Given the description of an element on the screen output the (x, y) to click on. 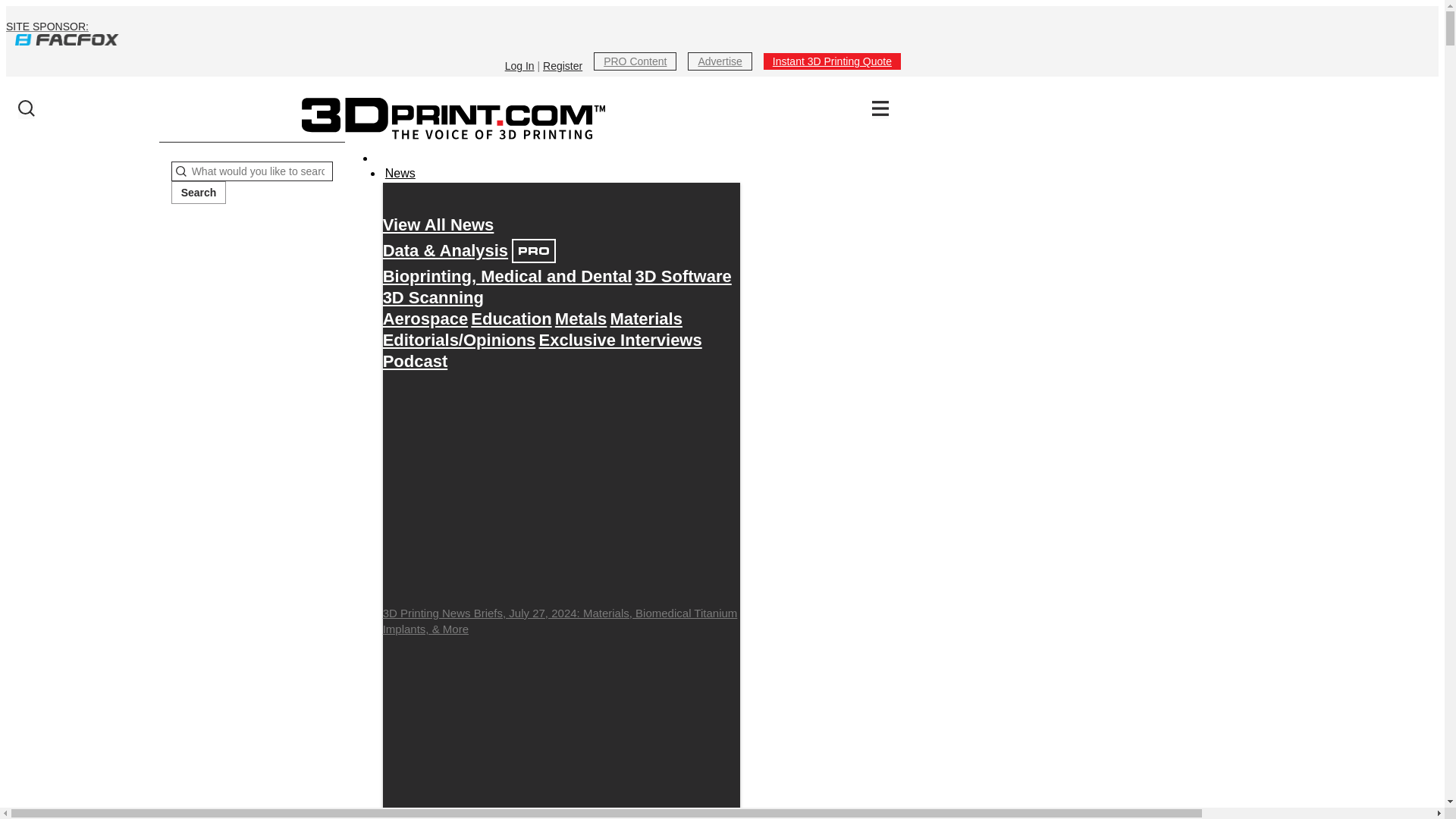
Exclusive Interviews (619, 339)
Bioprinting, Medical and Dental (506, 276)
SITE SPONSOR: (453, 32)
News (399, 173)
Instant 3D Printing Quote (831, 60)
3D Software (683, 276)
Advertise (719, 60)
Metals (580, 318)
Register (562, 65)
Aerospace (425, 318)
Podcast (415, 360)
Education (510, 318)
3D Scanning (432, 297)
Materials (645, 318)
Search (199, 191)
